Given the description of an element on the screen output the (x, y) to click on. 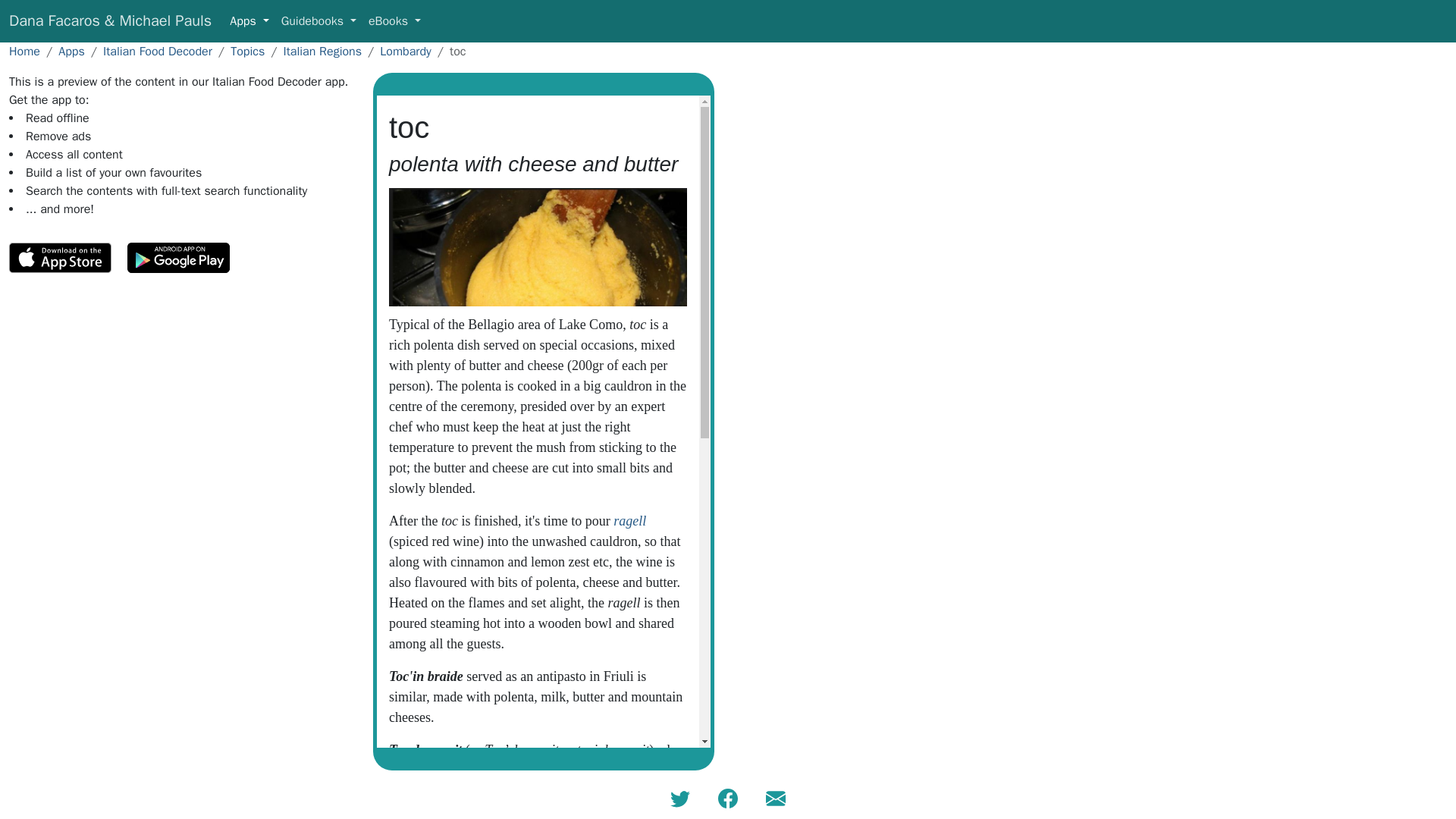
ragell (629, 520)
Guidebooks (318, 20)
Apps (249, 20)
eBooks (394, 20)
Italian Regions (322, 51)
Lombardy (405, 51)
Home (24, 51)
Italian Food Decoder (157, 51)
Apps (71, 51)
Topics (247, 51)
